Given the description of an element on the screen output the (x, y) to click on. 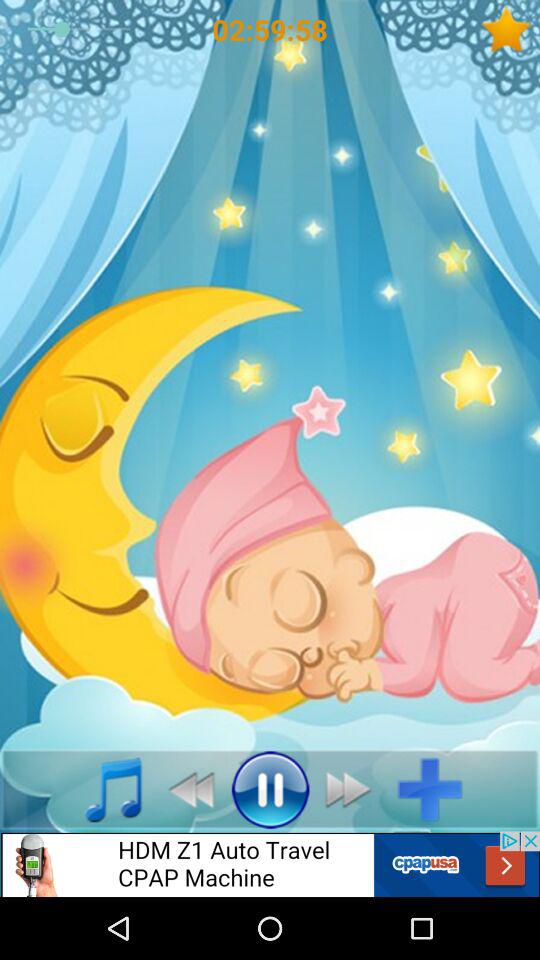
toggle favorite (510, 29)
